Given the description of an element on the screen output the (x, y) to click on. 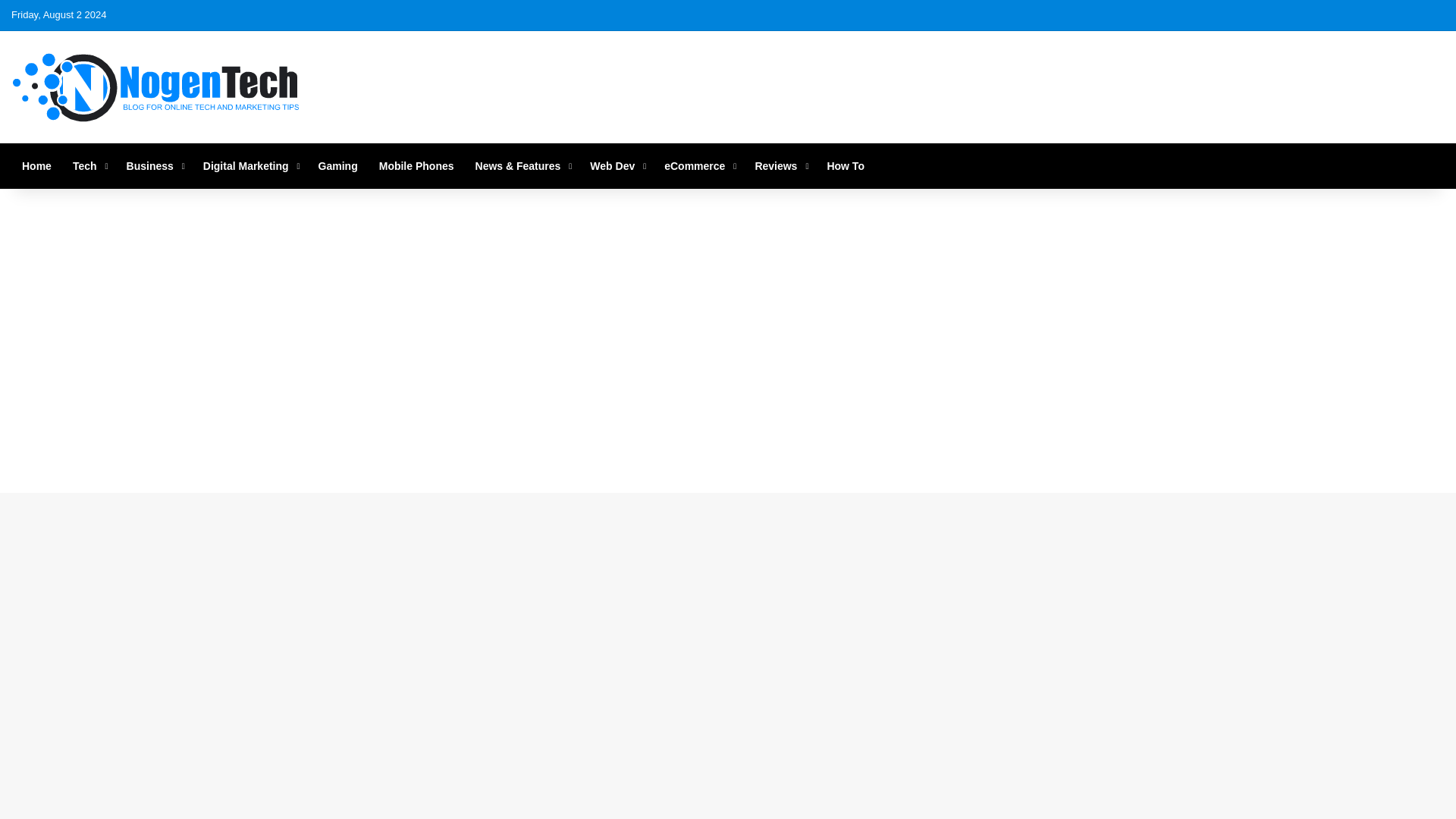
Home (36, 166)
Mobile Phones (416, 166)
Tech (89, 166)
Business (154, 166)
Digital Marketing (249, 166)
NogenTech.org (156, 86)
Gaming (337, 166)
